Given the description of an element on the screen output the (x, y) to click on. 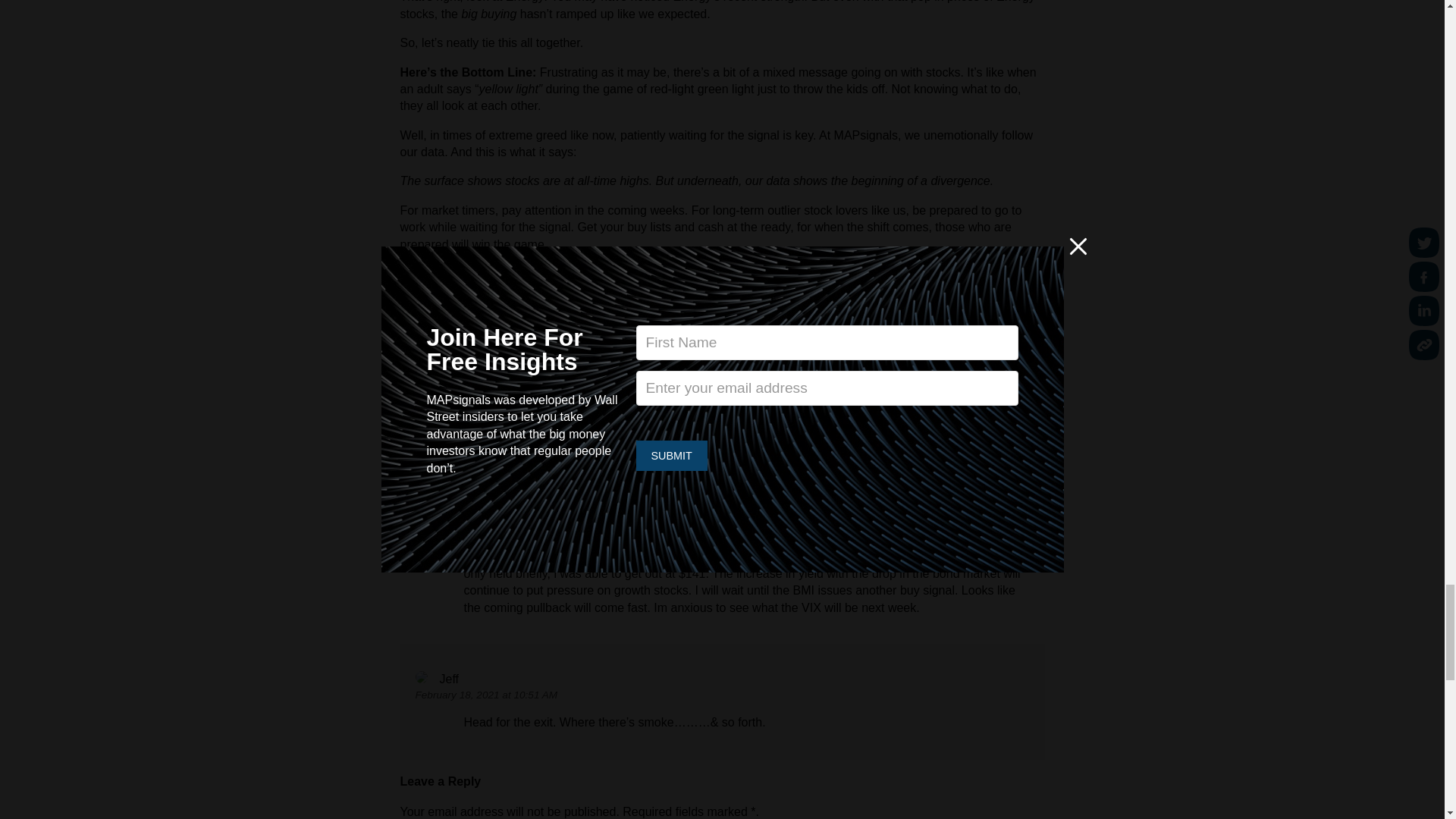
His full bio can be found here (737, 367)
